Given the description of an element on the screen output the (x, y) to click on. 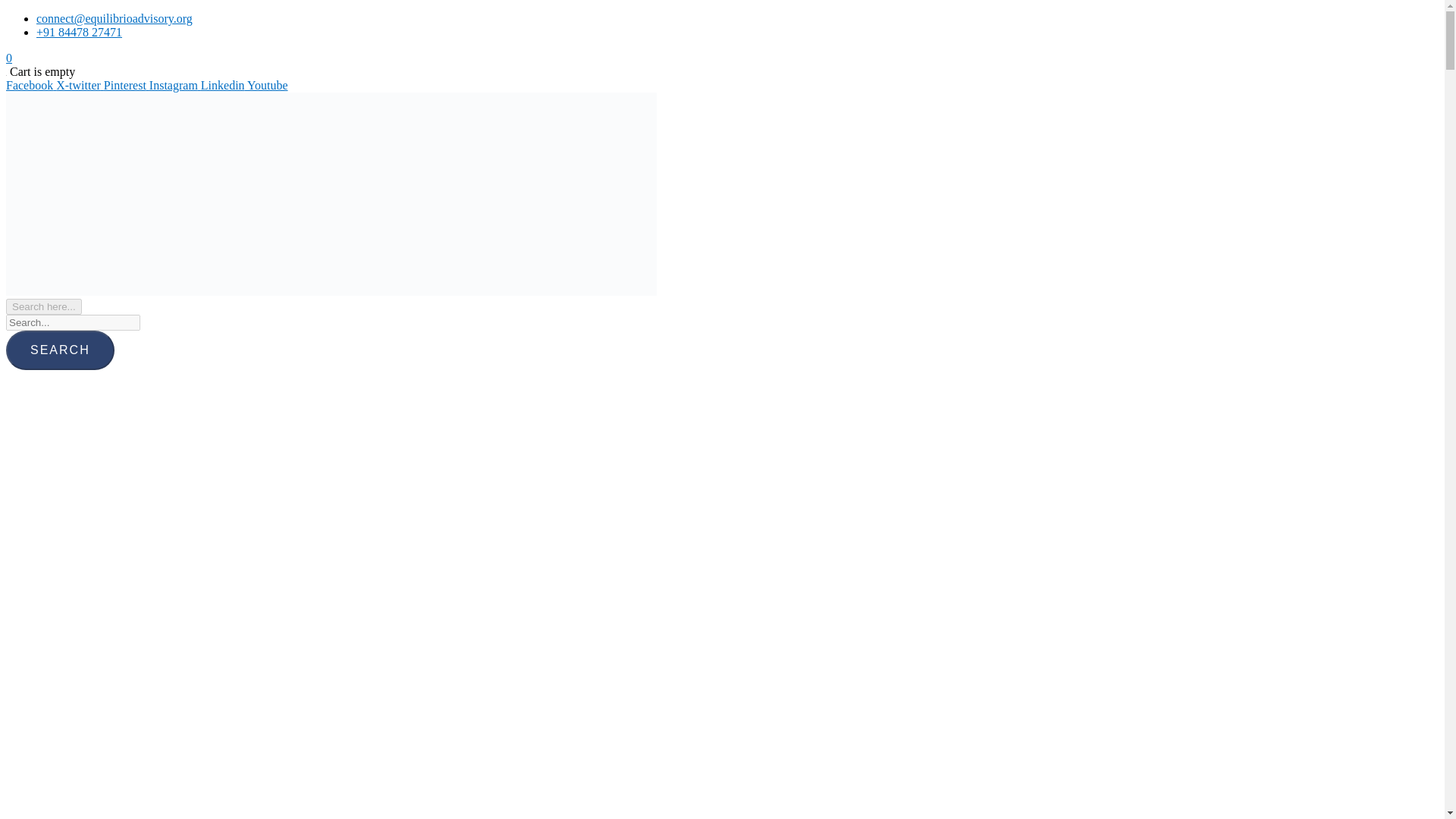
Search (60, 350)
Linkedin (223, 84)
Facebook (30, 84)
Search (60, 350)
Search (60, 350)
X-twitter (79, 84)
Search here... (43, 306)
Instagram (174, 84)
Pinterest (126, 84)
Youtube (267, 84)
